Given the description of an element on the screen output the (x, y) to click on. 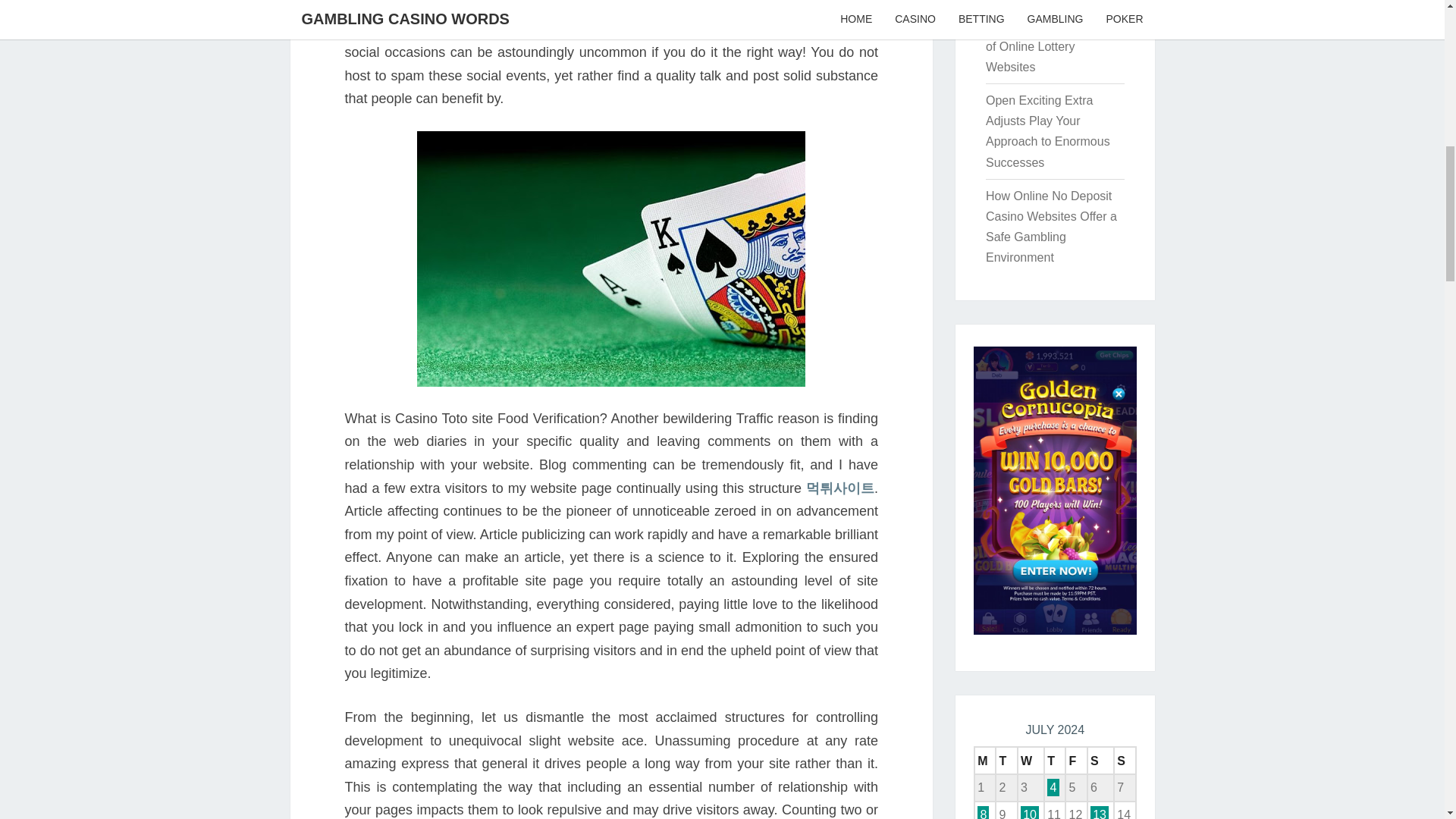
13 (1099, 812)
Wednesday (1030, 759)
Saturday (1100, 759)
10 (1029, 812)
